Given the description of an element on the screen output the (x, y) to click on. 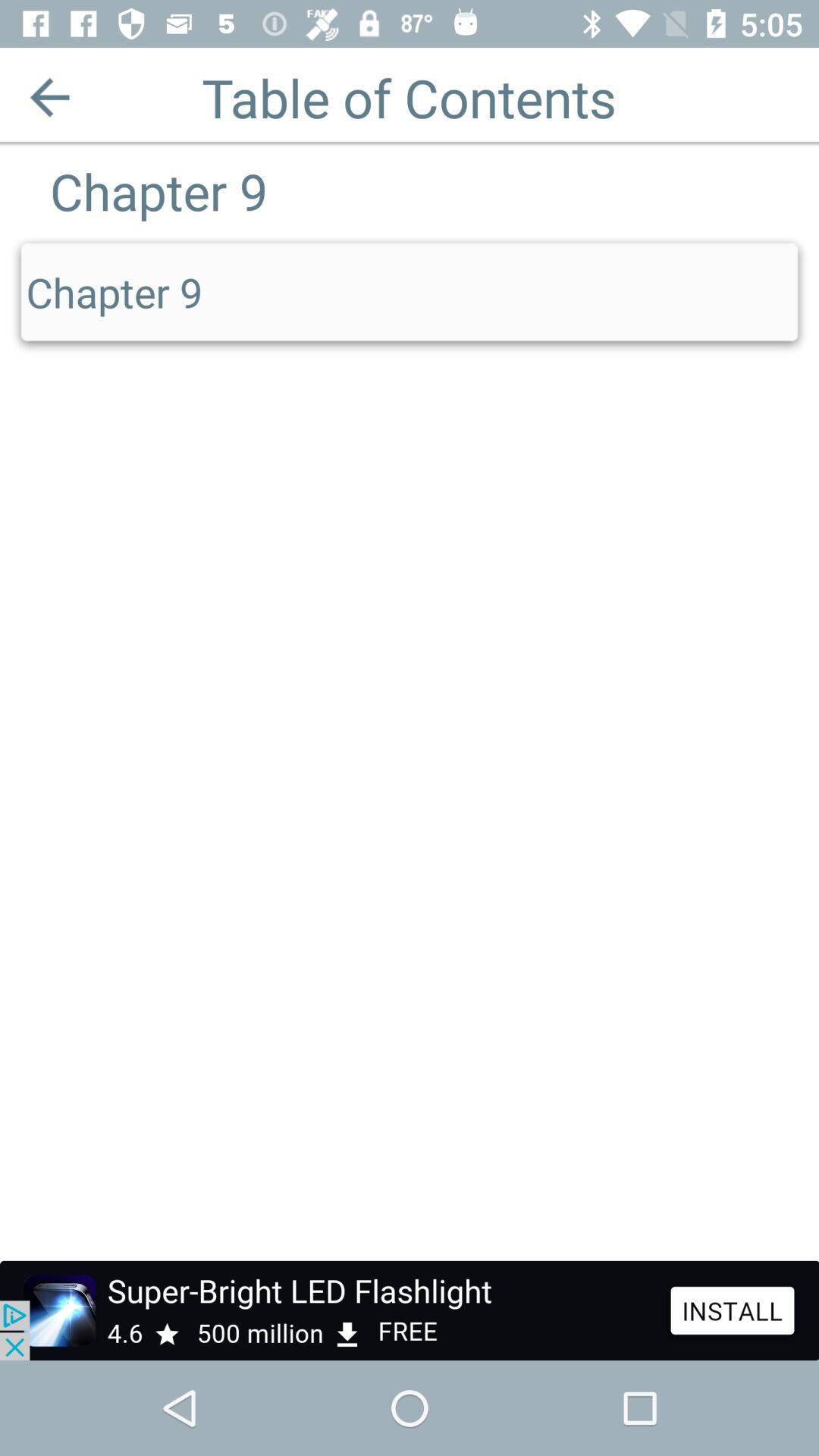
go to page (49, 97)
